Given the description of an element on the screen output the (x, y) to click on. 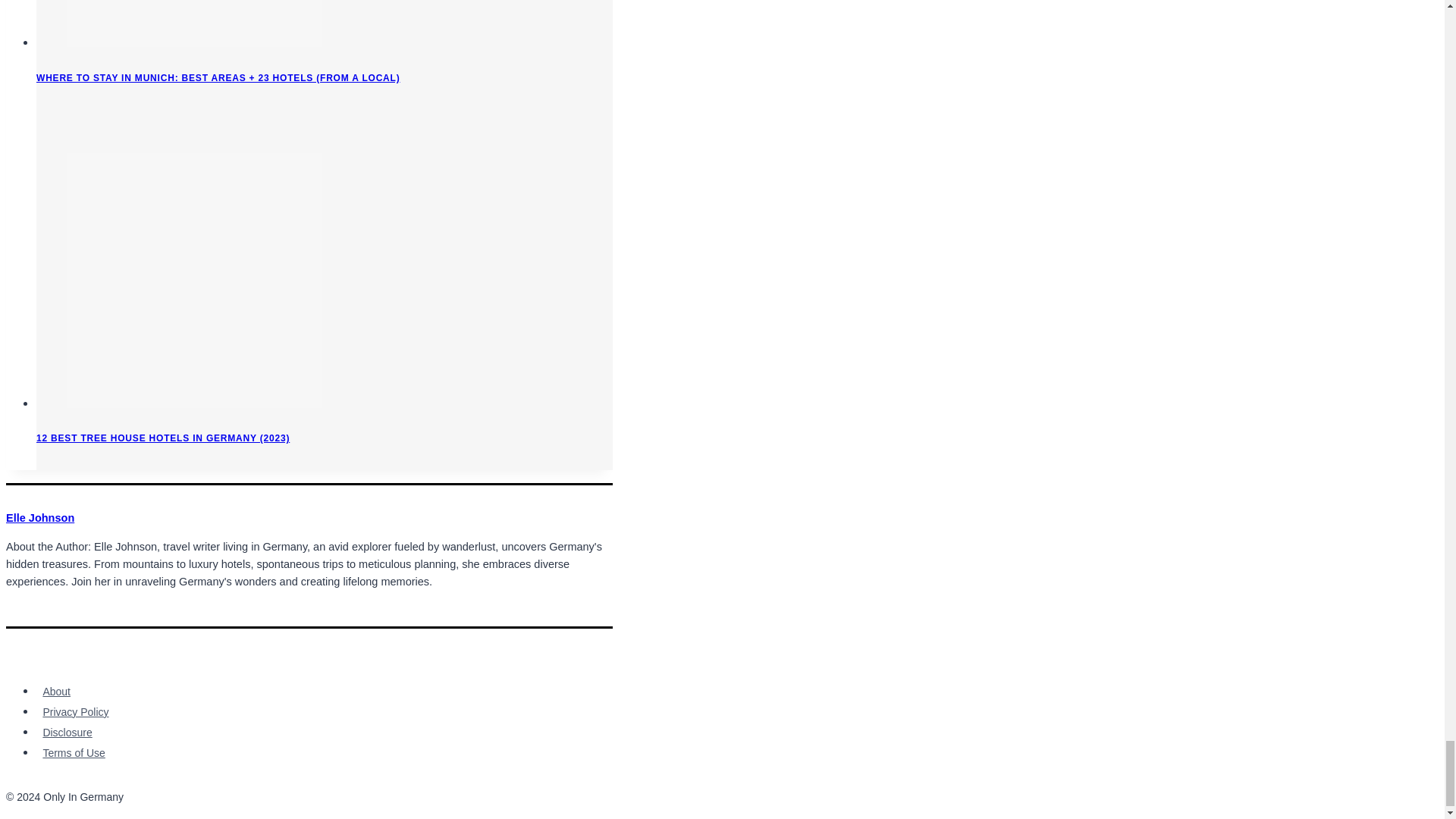
About (56, 691)
Terms of Use (74, 752)
Privacy Policy (75, 711)
Disclosure (67, 732)
Posts by Elle Johnson (39, 517)
Elle Johnson (39, 517)
